Given the description of an element on the screen output the (x, y) to click on. 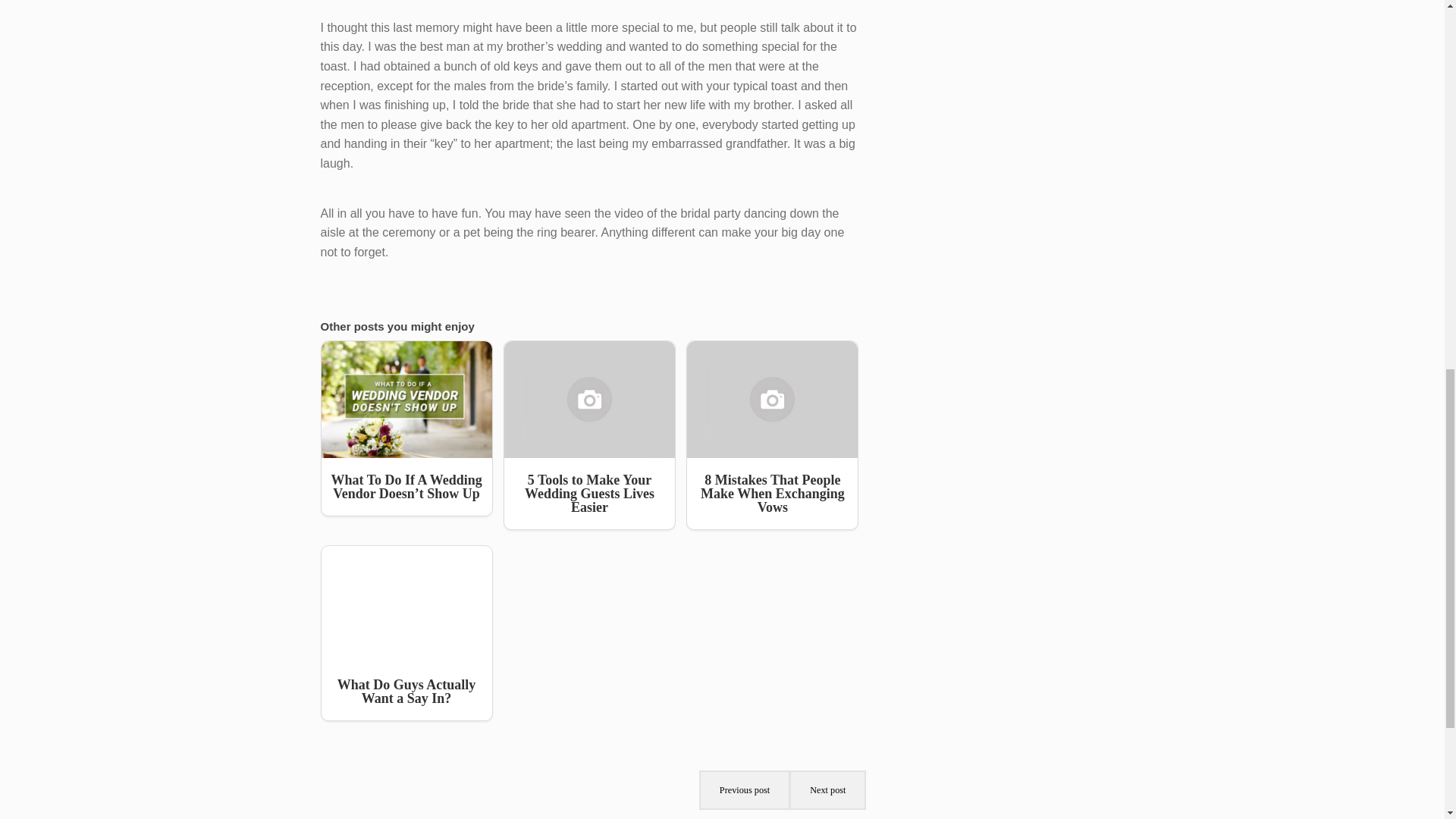
5 Tools to Make Your Wedding Guests Lives Easier (589, 434)
Next post (827, 790)
Previous post (744, 790)
What Do Guys Actually Want a Say In? (406, 633)
8 Mistakes That People Make When Exchanging Vows (772, 434)
